Given the description of an element on the screen output the (x, y) to click on. 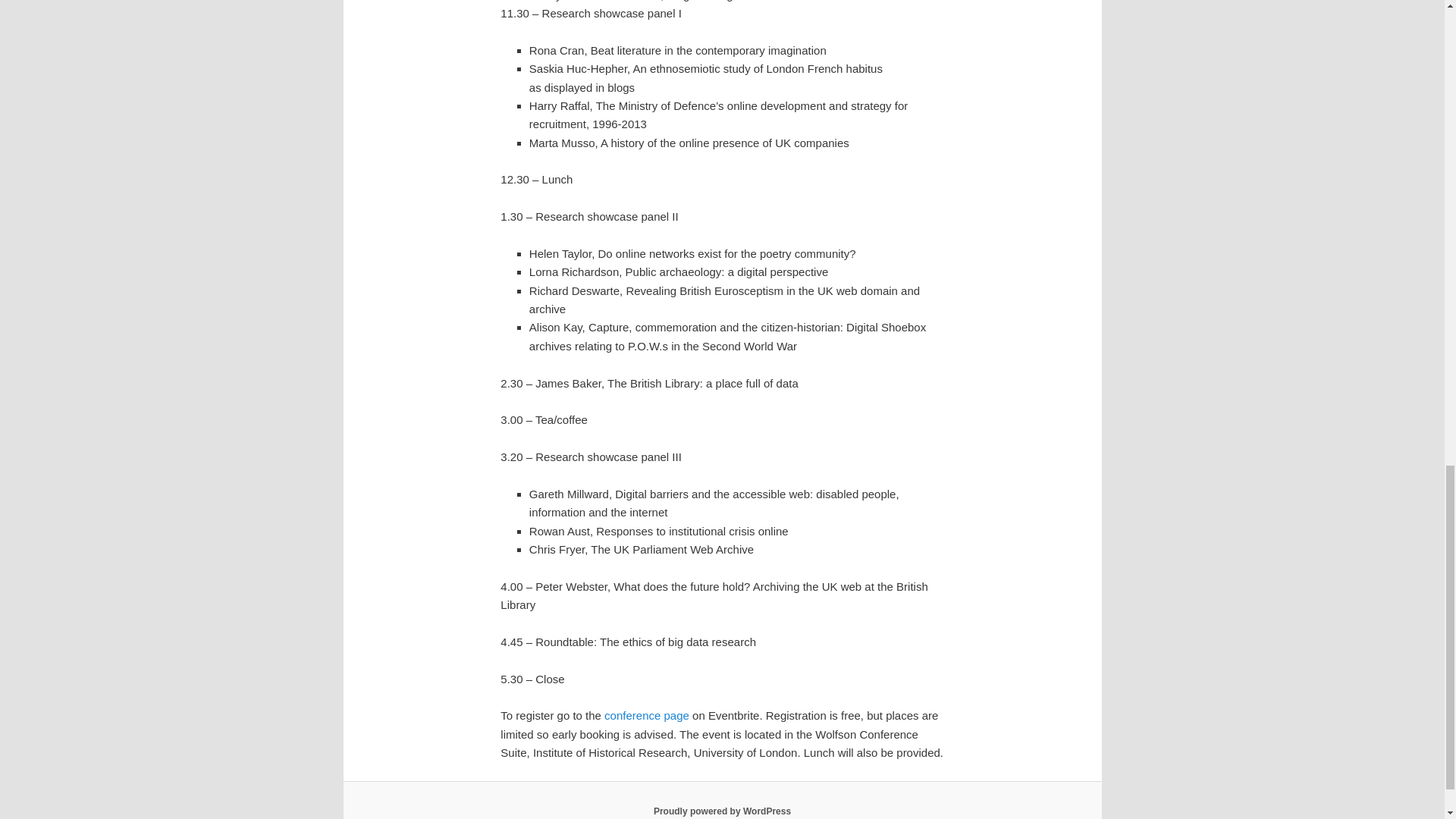
conference page (646, 715)
Semantic Personal Publishing Platform (721, 810)
Proudly powered by WordPress (721, 810)
